Given the description of an element on the screen output the (x, y) to click on. 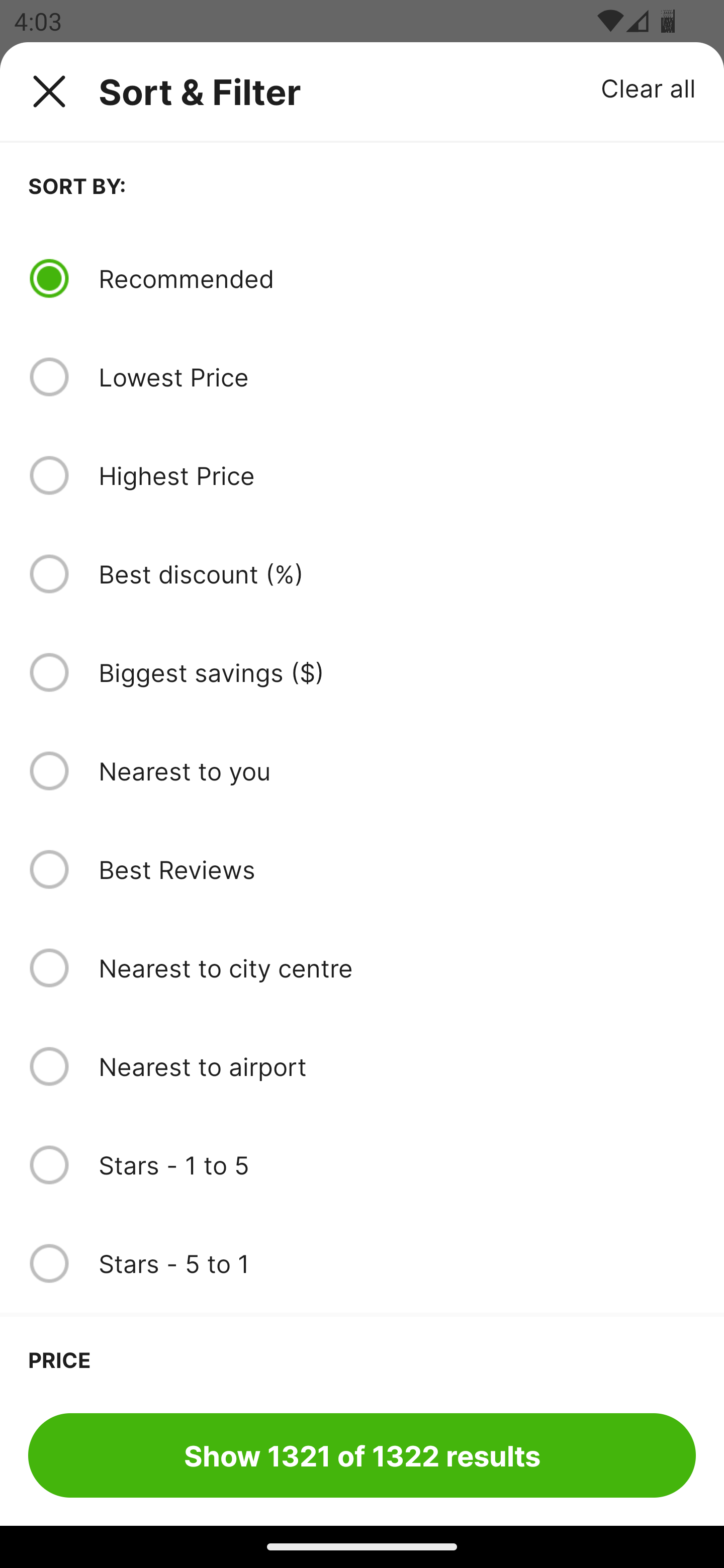
Clear all (648, 87)
Recommended  (396, 278)
Lowest Price (396, 377)
Highest Price (396, 474)
Best discount (%) (396, 573)
Biggest savings ($) (396, 672)
Nearest to you (396, 770)
Best Reviews (396, 869)
Nearest to city centre (396, 968)
Nearest to airport (396, 1065)
Stars - 1 to 5 (396, 1164)
Stars - 5 to 1 (396, 1263)
Show 1321 of 1322 results (361, 1454)
